Given the description of an element on the screen output the (x, y) to click on. 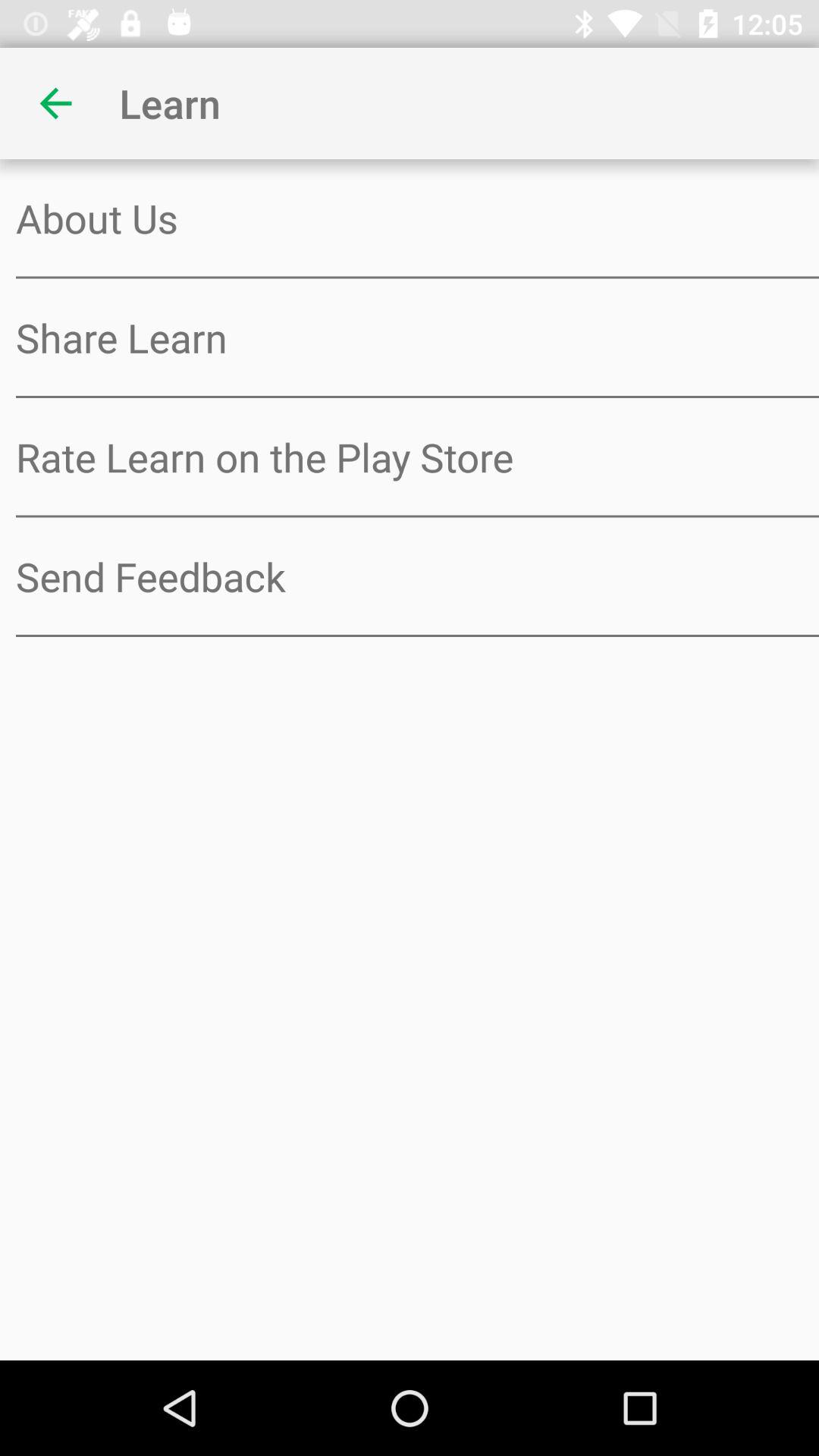
turn on icon to the left of learn (55, 103)
